Given the description of an element on the screen output the (x, y) to click on. 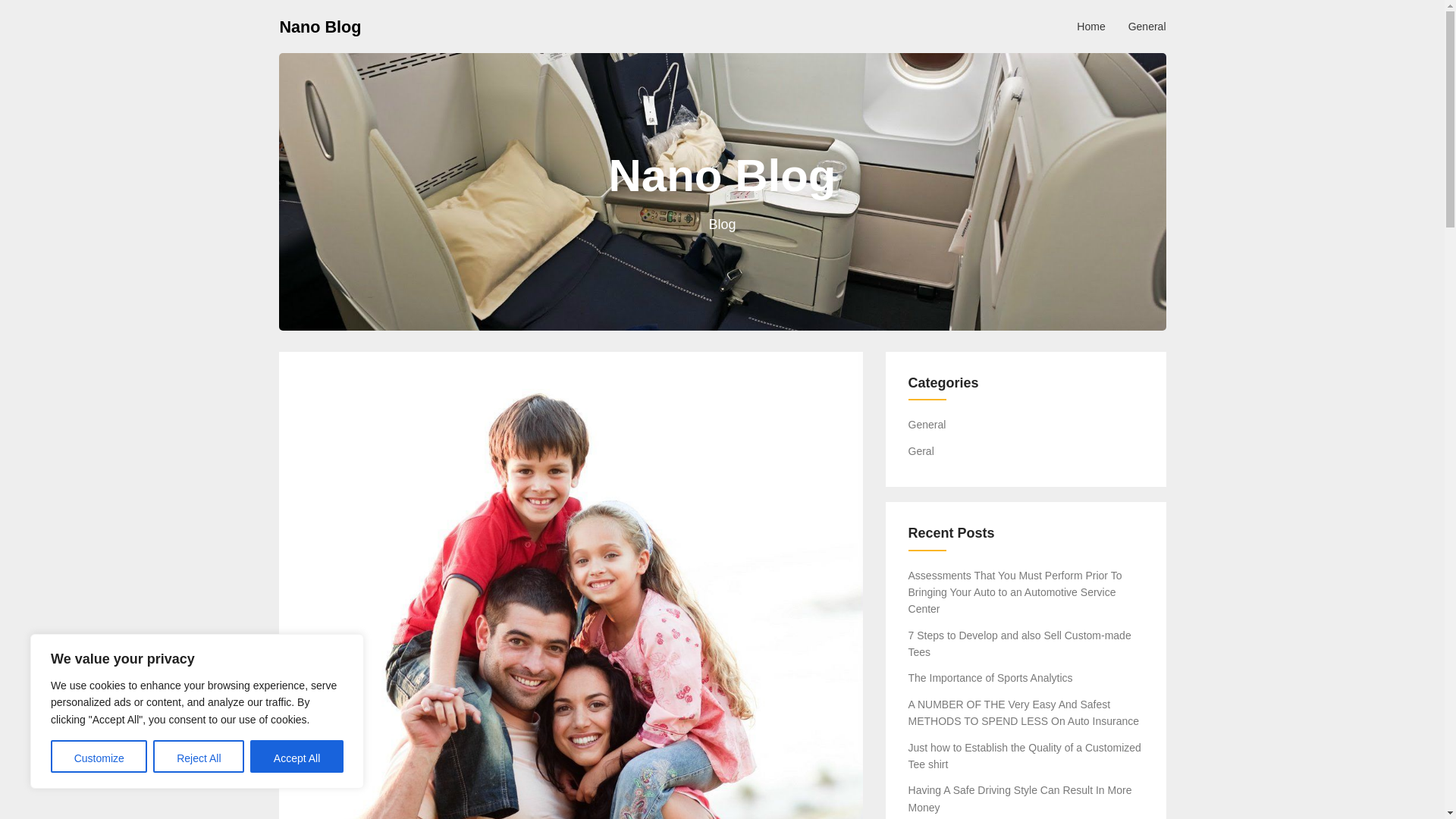
Accept All (296, 756)
Home (1090, 26)
Geral (921, 451)
General (1146, 26)
Nano Blog (320, 26)
Customize (98, 756)
Having A Safe Driving Style Can Result In More Money (1020, 798)
The Importance of Sports Analytics (990, 677)
General (927, 424)
